Given the description of an element on the screen output the (x, y) to click on. 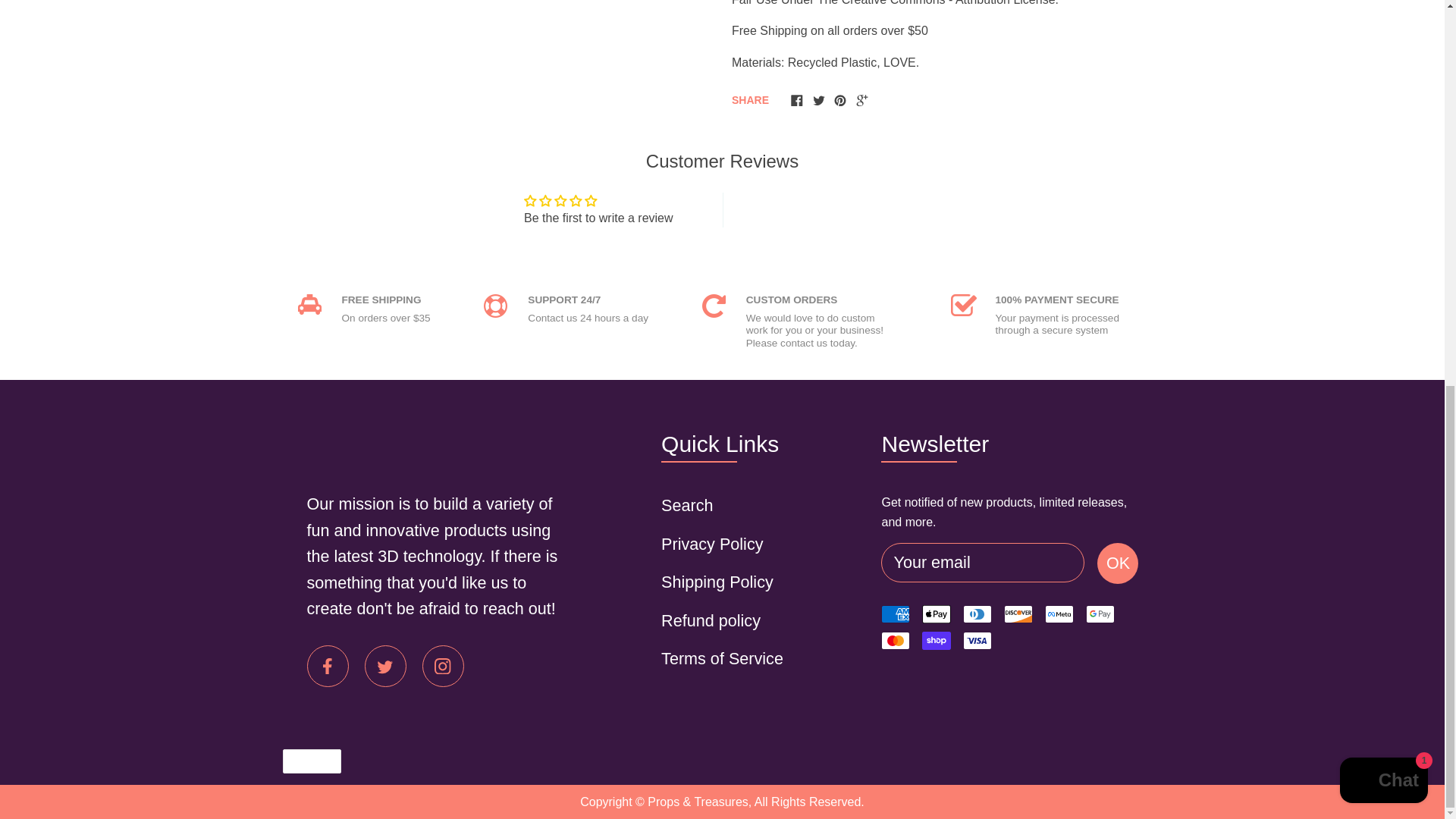
Shopify online store chat (1383, 52)
Facebook (796, 100)
Apple Pay (935, 614)
Discover (1018, 614)
Diners Club (976, 614)
Meta Pay (1059, 614)
American Express (895, 614)
Pinterest (839, 100)
OK (1117, 562)
Twitter (818, 100)
